Given the description of an element on the screen output the (x, y) to click on. 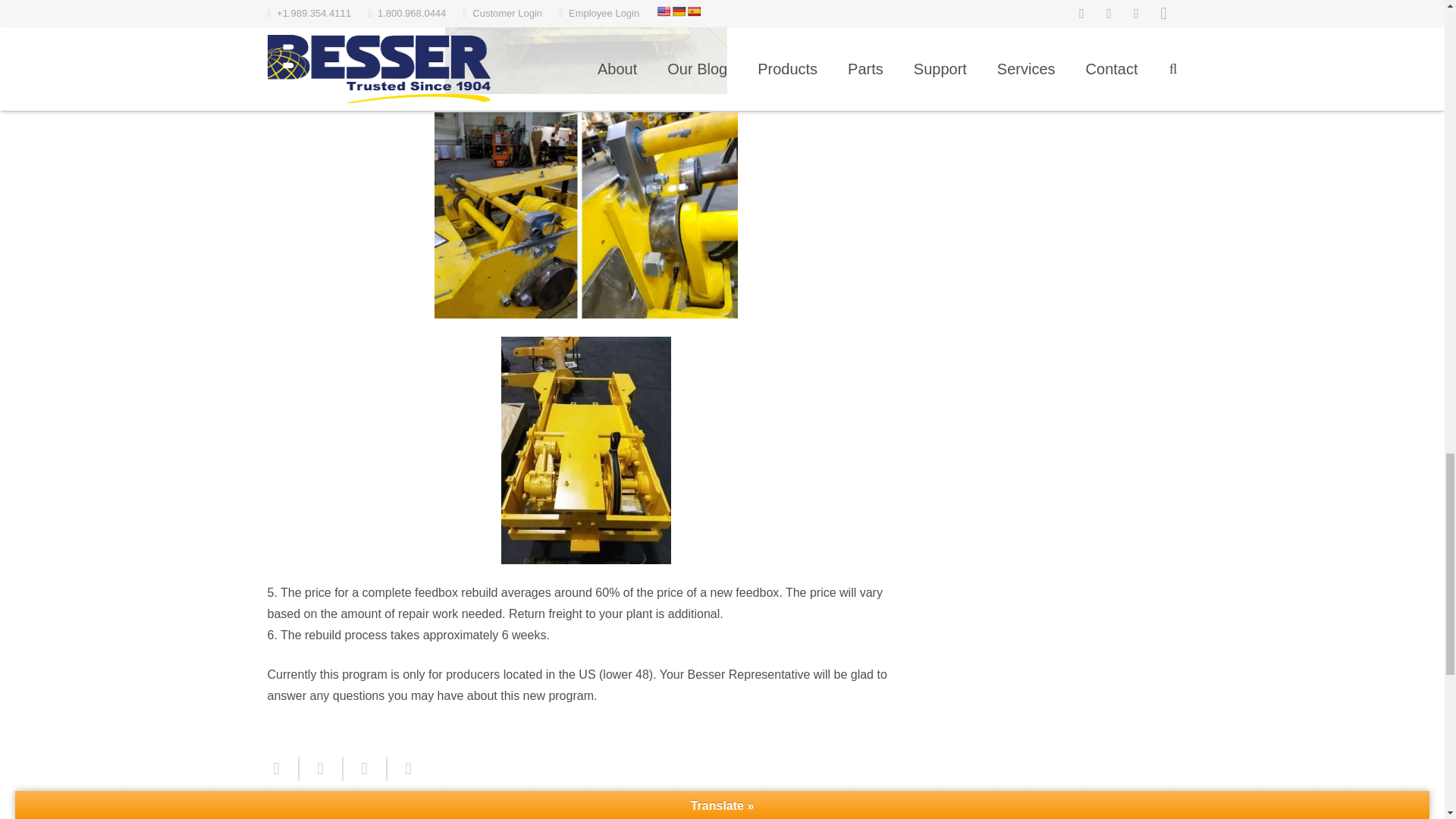
Share this (401, 768)
Tweet this (320, 768)
Share this (364, 768)
Share this (282, 768)
